Given the description of an element on the screen output the (x, y) to click on. 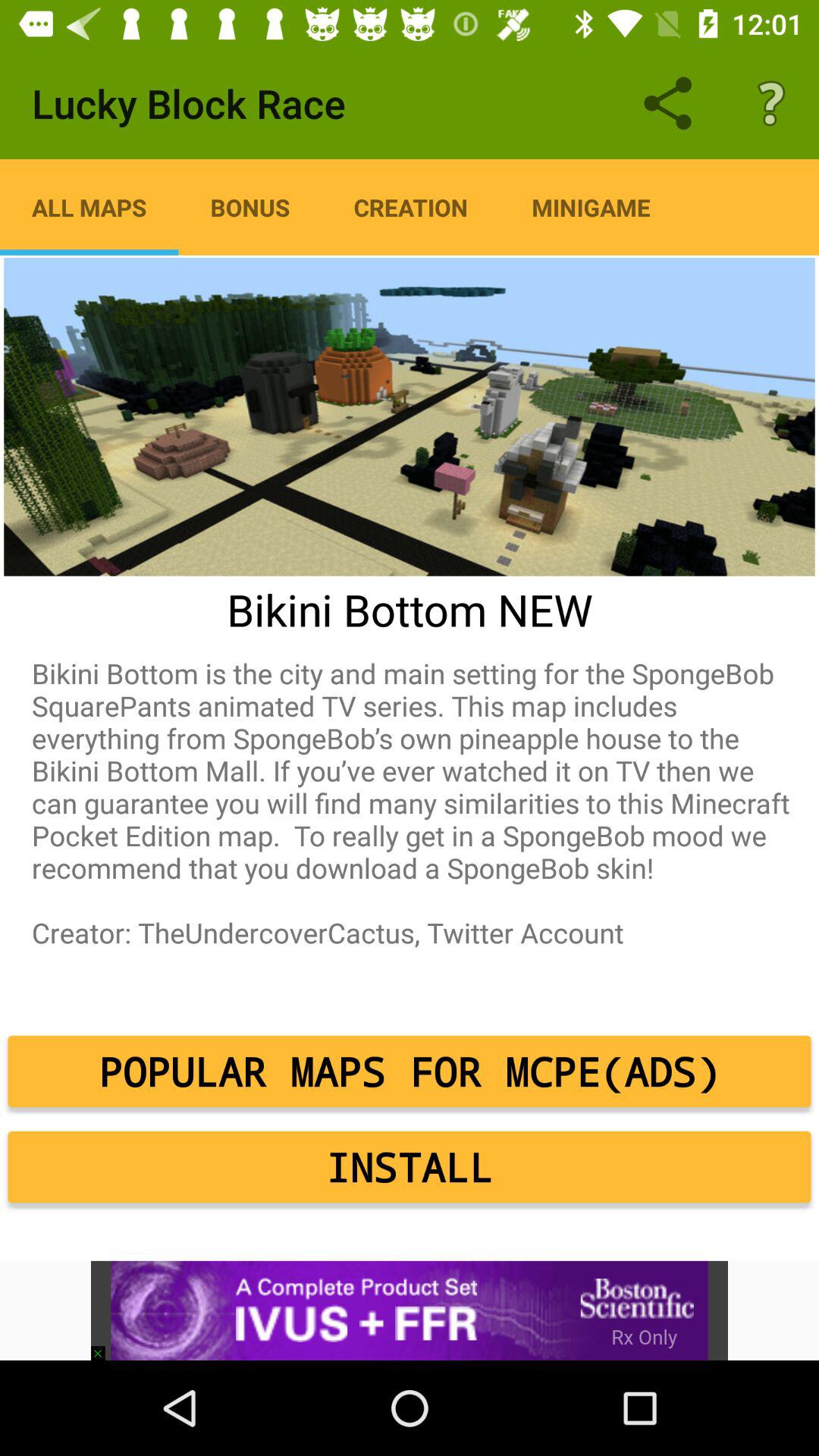
flip to the popular maps for icon (409, 1071)
